Given the description of an element on the screen output the (x, y) to click on. 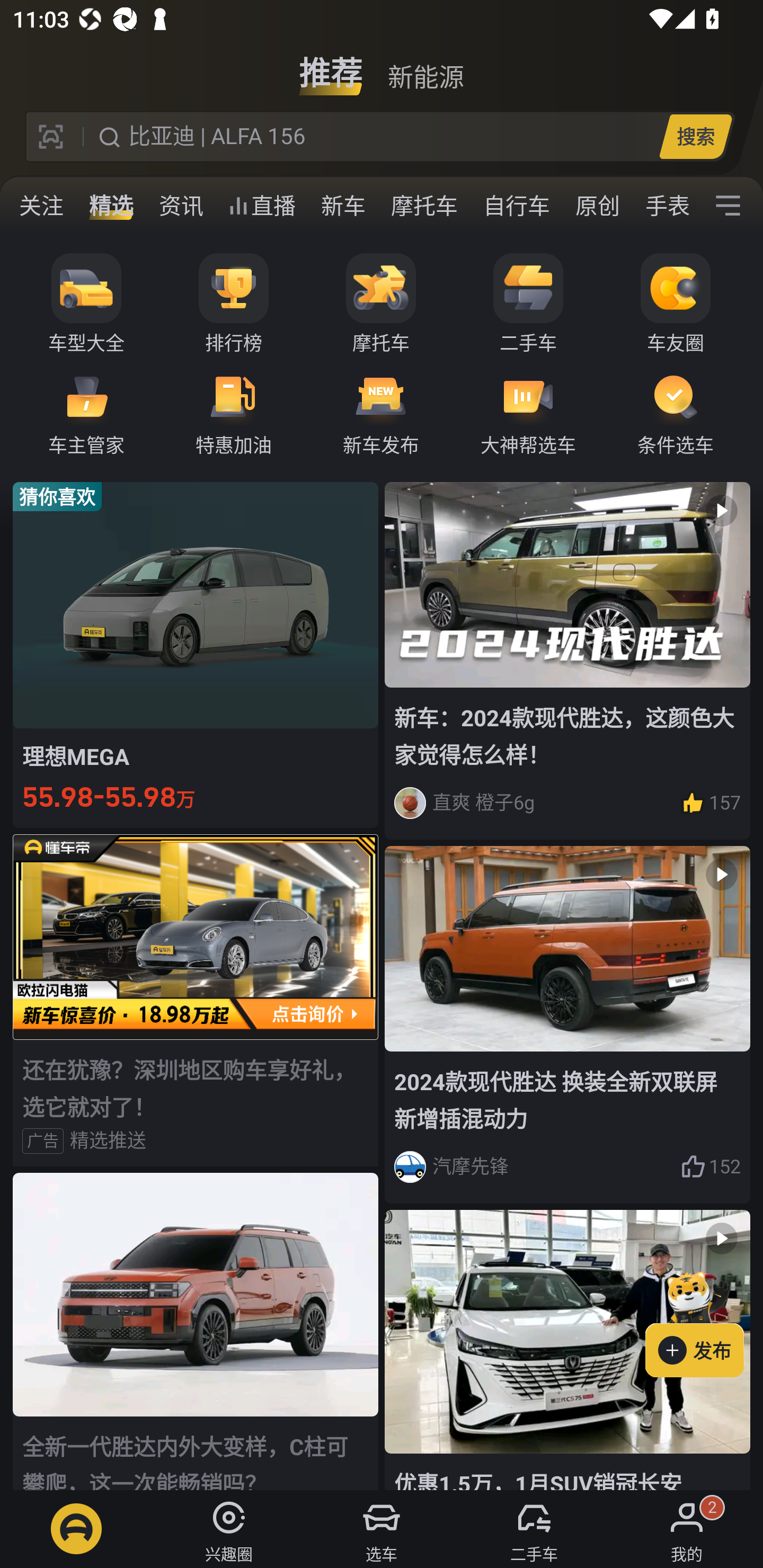
推荐 (330, 65)
新能源 (425, 65)
搜索 (695, 136)
关注 (41, 205)
精选 (111, 205)
资讯 (180, 205)
直播 (261, 205)
新车 (343, 205)
摩托车 (424, 205)
自行车 (516, 205)
原创 (597, 205)
手表 (663, 205)
 (727, 205)
车型大全 (86, 303)
排行榜 (233, 303)
摩托车 (380, 303)
二手车 (528, 303)
车友圈 (675, 303)
车主管家 (86, 412)
特惠加油 (233, 412)
新车发布 (380, 412)
大神帮选车 (528, 412)
条件选车 (675, 412)
猜你喜欢 理想MEGA 55.98-55.98万 (195, 654)
 新车：2024款现代胜达，这颜色大家觉得怎么样！ 直爽 橙子6g 157 (567, 659)
157 (710, 802)
还在犹豫？深圳地区购车享好礼，选它就对了！ 广告 精选推送 (195, 1000)
 2024款现代胜达 换装全新双联屏 新增插混动力 汽摩先锋 152 (567, 1025)
152 (710, 1166)
全新一代胜达内外大变样，C柱可攀爬，这一次能畅销吗？ (195, 1330)
 优惠1.5万，1月SUV销冠长安CS75PLUS为何值得买？性价比是亮点！ (567, 1349)
发布 (704, 1320)
 兴趣圈 (228, 1528)
 选车 (381, 1528)
 二手车 (533, 1528)
 我的 (686, 1528)
